Given the description of an element on the screen output the (x, y) to click on. 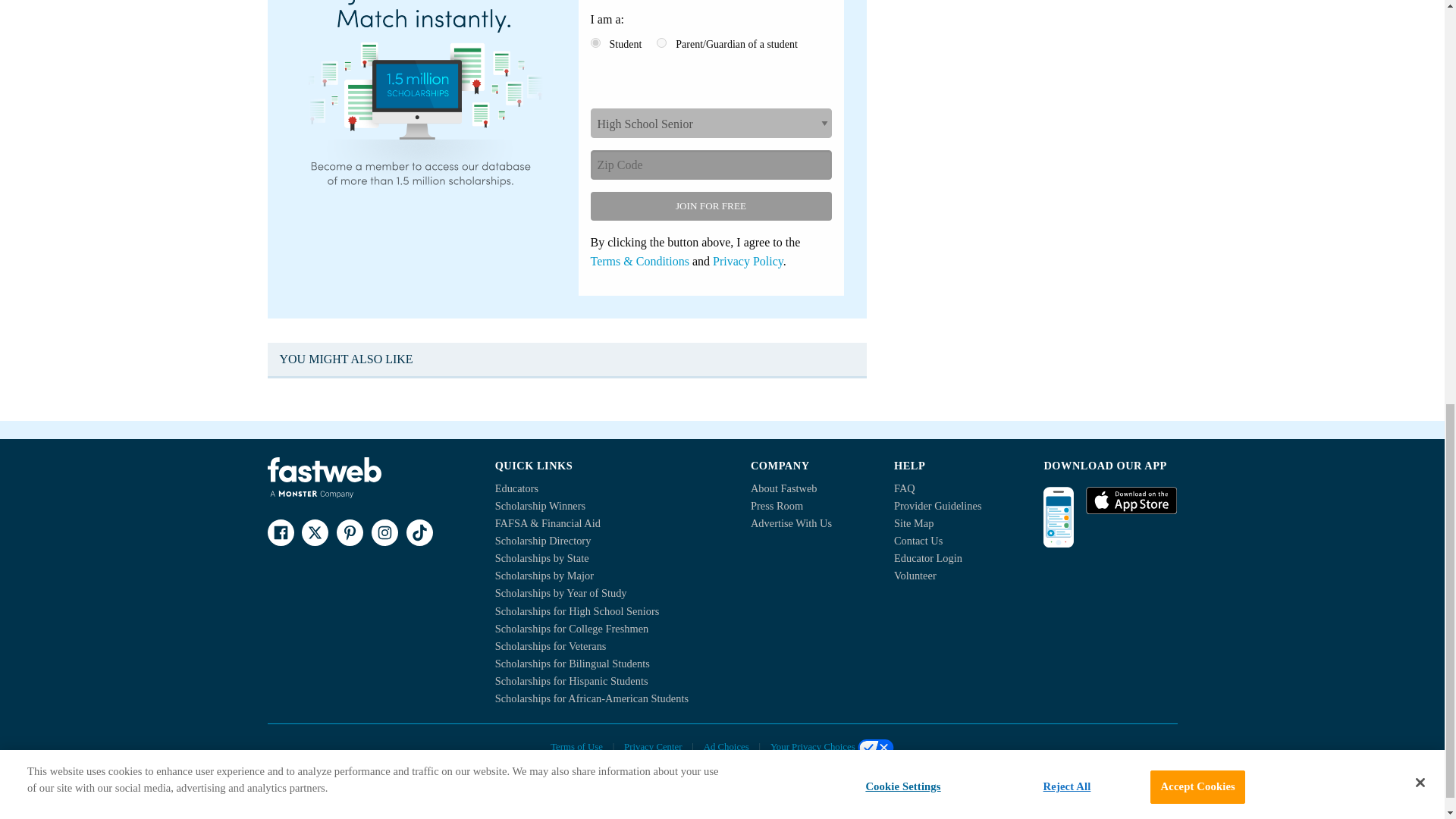
Fastweb on Pinterest (349, 532)
Fastweb on Facebook (280, 532)
Fastweb on TikTok (419, 532)
Fastweb on Instagram (384, 532)
Fastweb on IOS (1131, 500)
2 (661, 42)
1 (594, 42)
Join for free (710, 205)
